Given the description of an element on the screen output the (x, y) to click on. 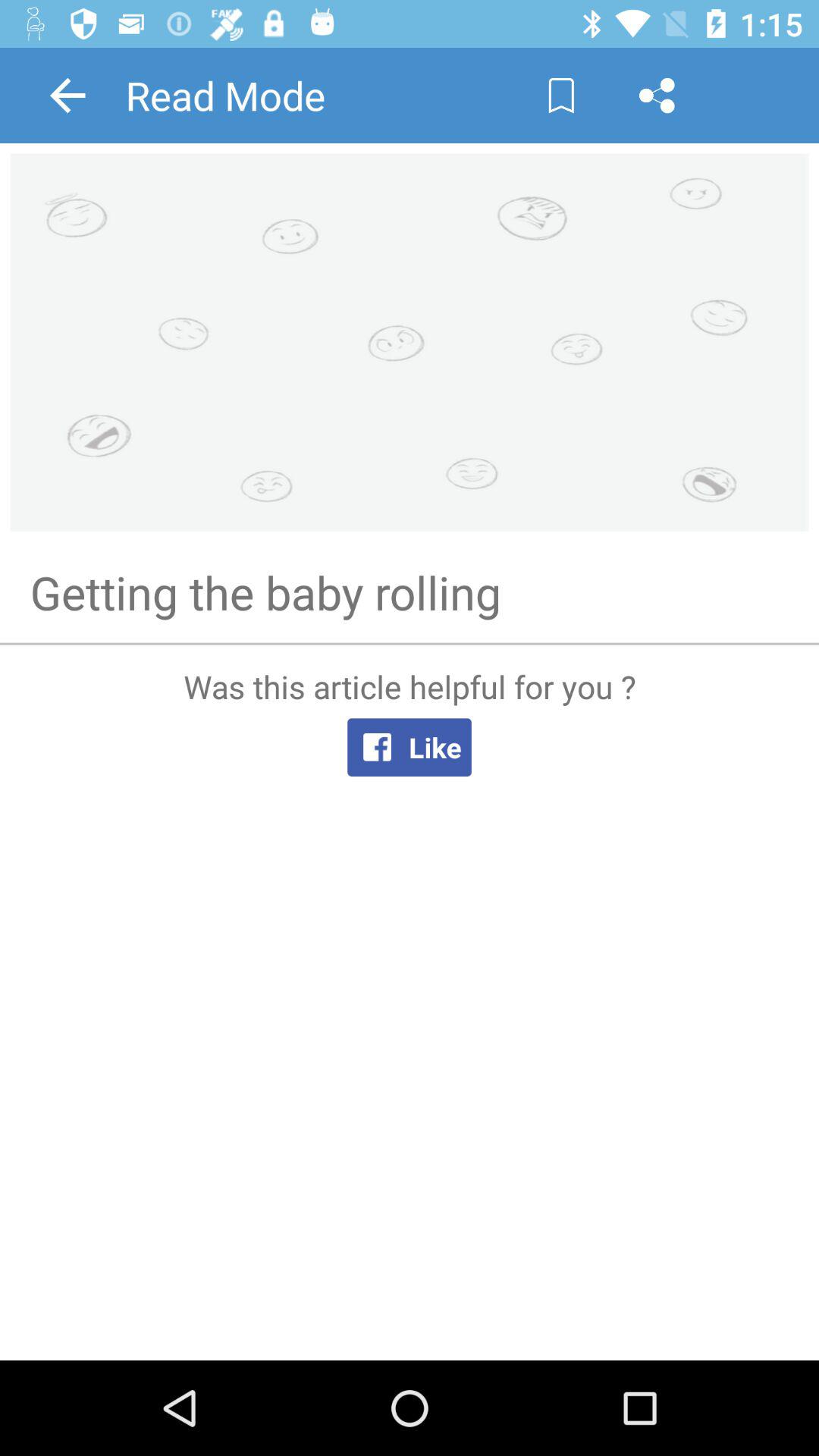
bookmark (561, 95)
